Given the description of an element on the screen output the (x, y) to click on. 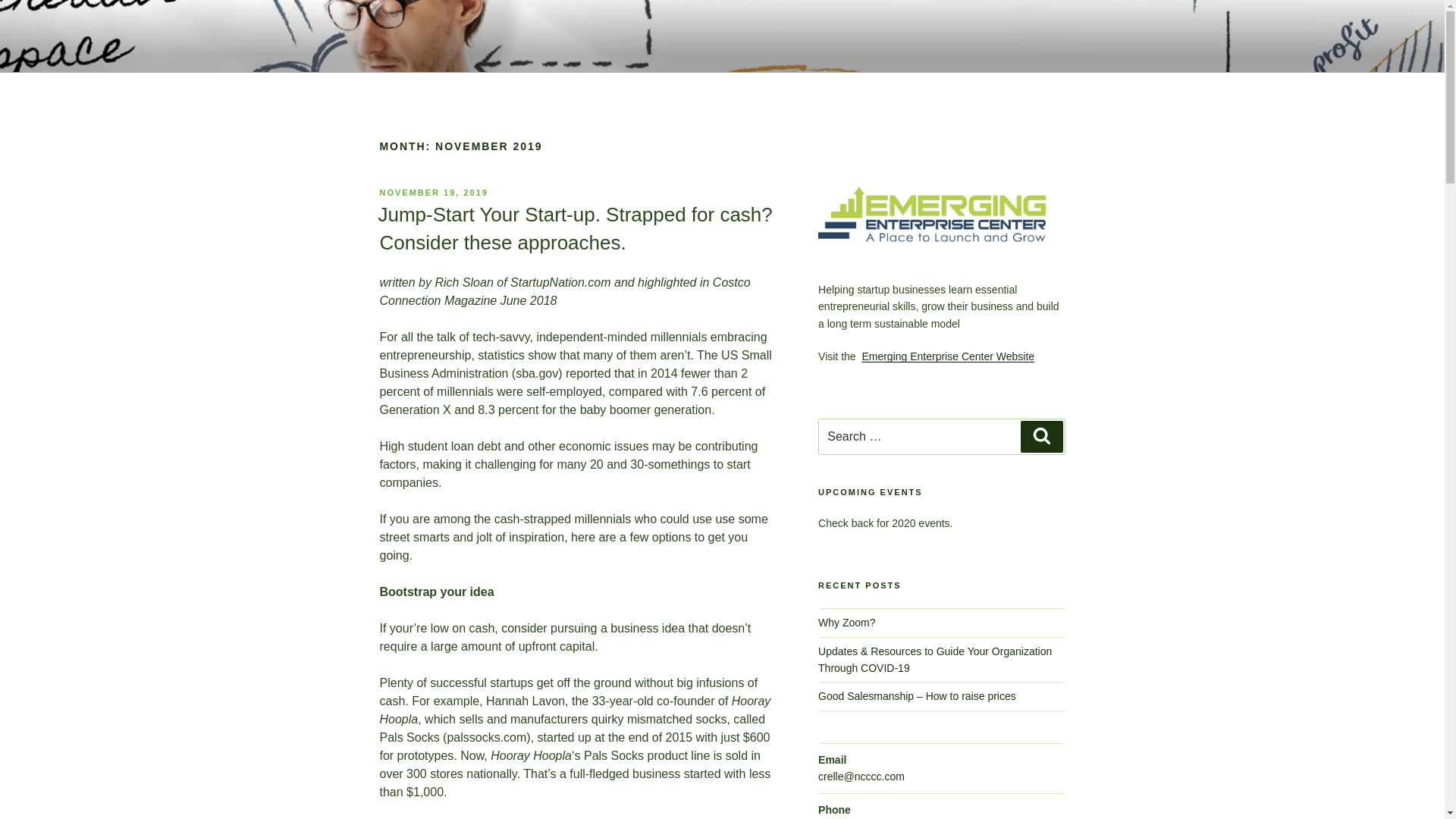
Why Zoom? (846, 622)
WELCOME TO THE EMERGING ENTERPRISE CENTER (709, 70)
Search (1041, 436)
Emerging Enterprise Center Website (947, 356)
NOVEMBER 19, 2019 (432, 192)
